Given the description of an element on the screen output the (x, y) to click on. 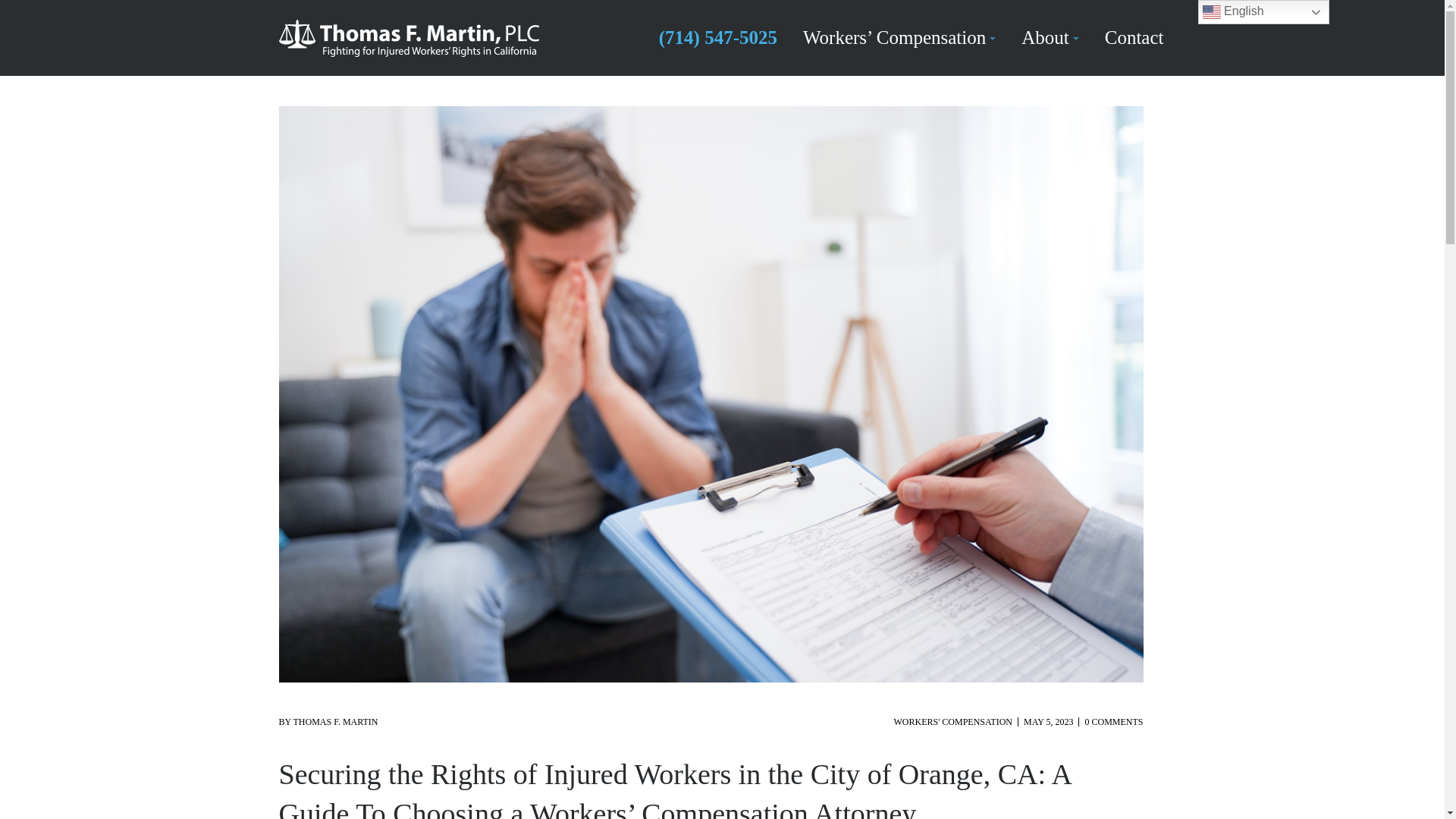
Contact (1134, 38)
About (1049, 38)
